Given the description of an element on the screen output the (x, y) to click on. 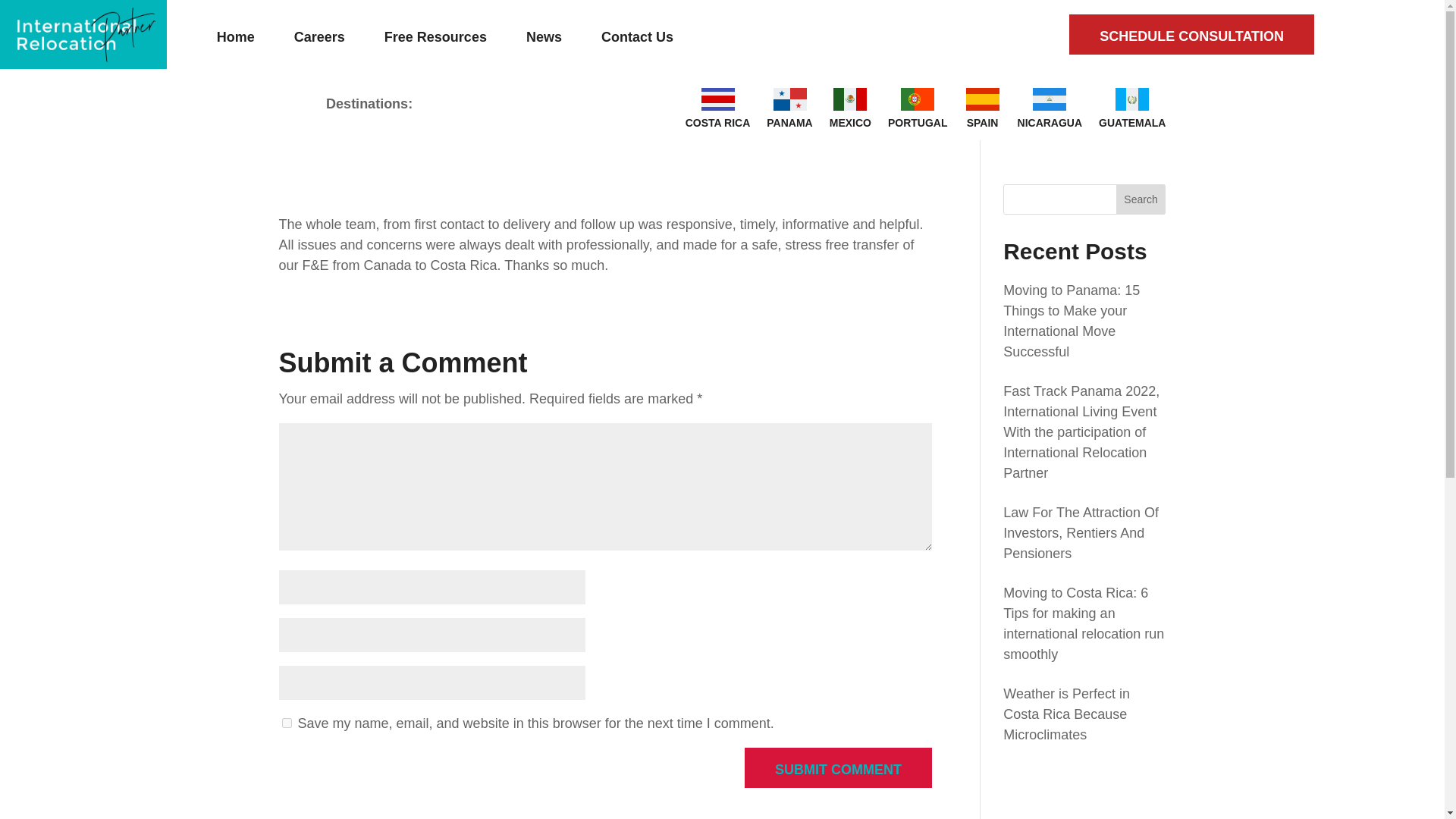
SCHEDULE CONSULTATION (1191, 34)
Home (247, 37)
yes (287, 723)
COSTA RICA (718, 107)
Careers (331, 37)
GUATEMALA (1132, 107)
Search (1141, 199)
PORTUGAL (917, 107)
Free Resources (446, 37)
News (555, 37)
Submit Comment (837, 767)
Contact Us (648, 37)
NICARAGUA (1050, 107)
